Given the description of an element on the screen output the (x, y) to click on. 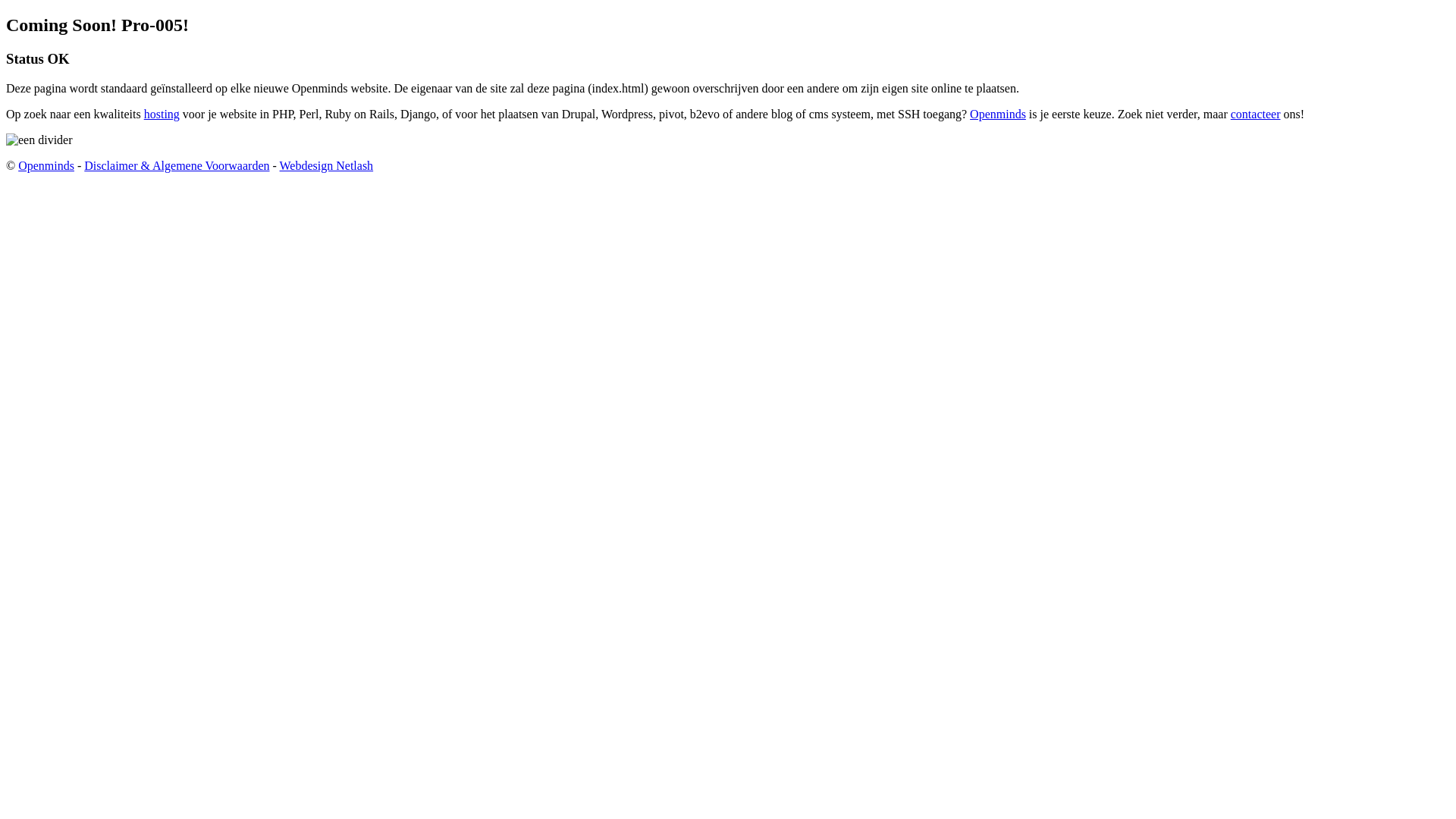
Disclaimer & Algemene Voorwaarden Element type: text (176, 165)
Openminds Element type: text (46, 165)
hosting Element type: text (161, 113)
contacteer Element type: text (1255, 113)
Openminds Element type: text (997, 113)
Webdesign Netlash Element type: text (326, 165)
